Given the description of an element on the screen output the (x, y) to click on. 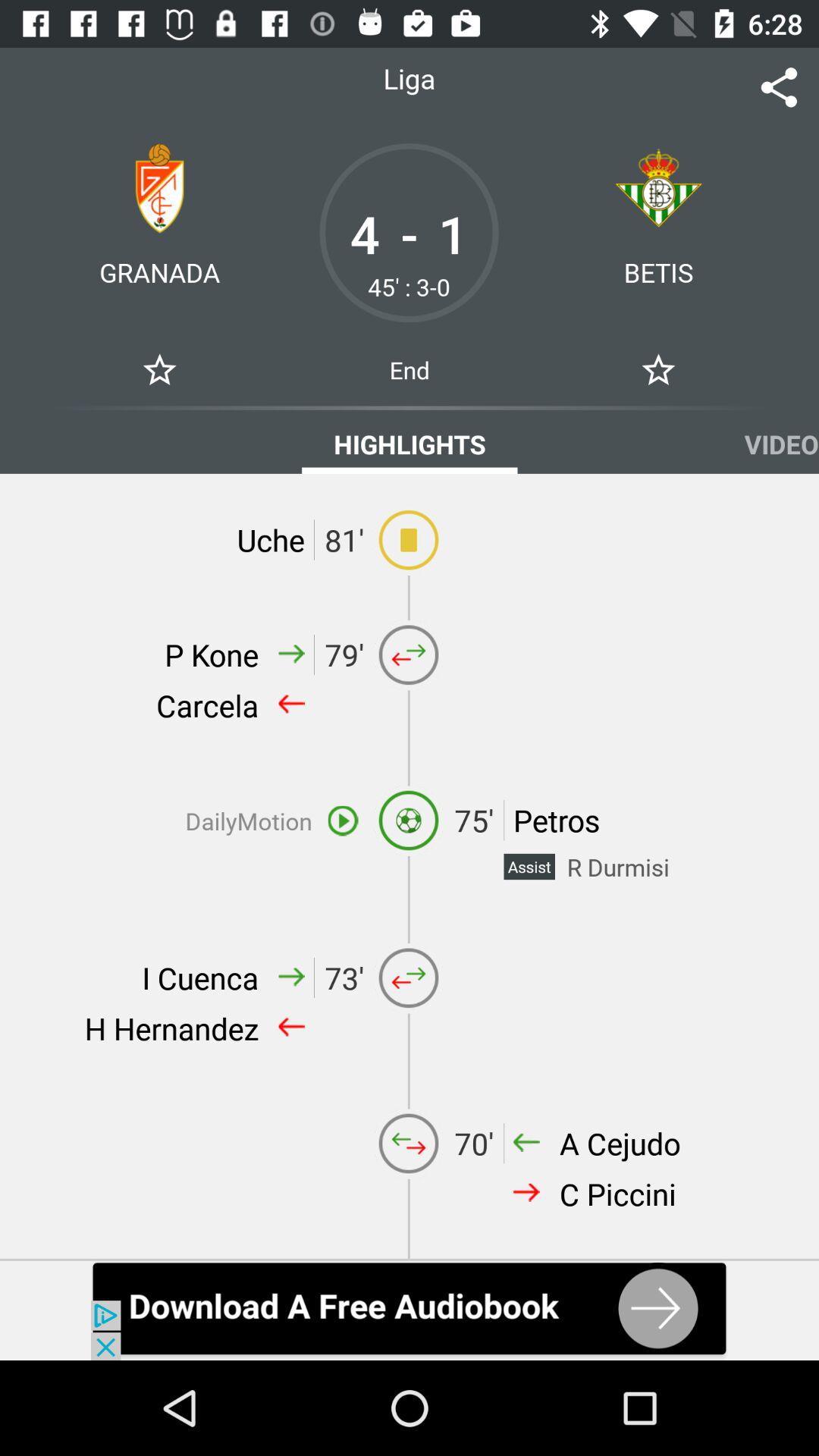
open advertisement (409, 1310)
